Given the description of an element on the screen output the (x, y) to click on. 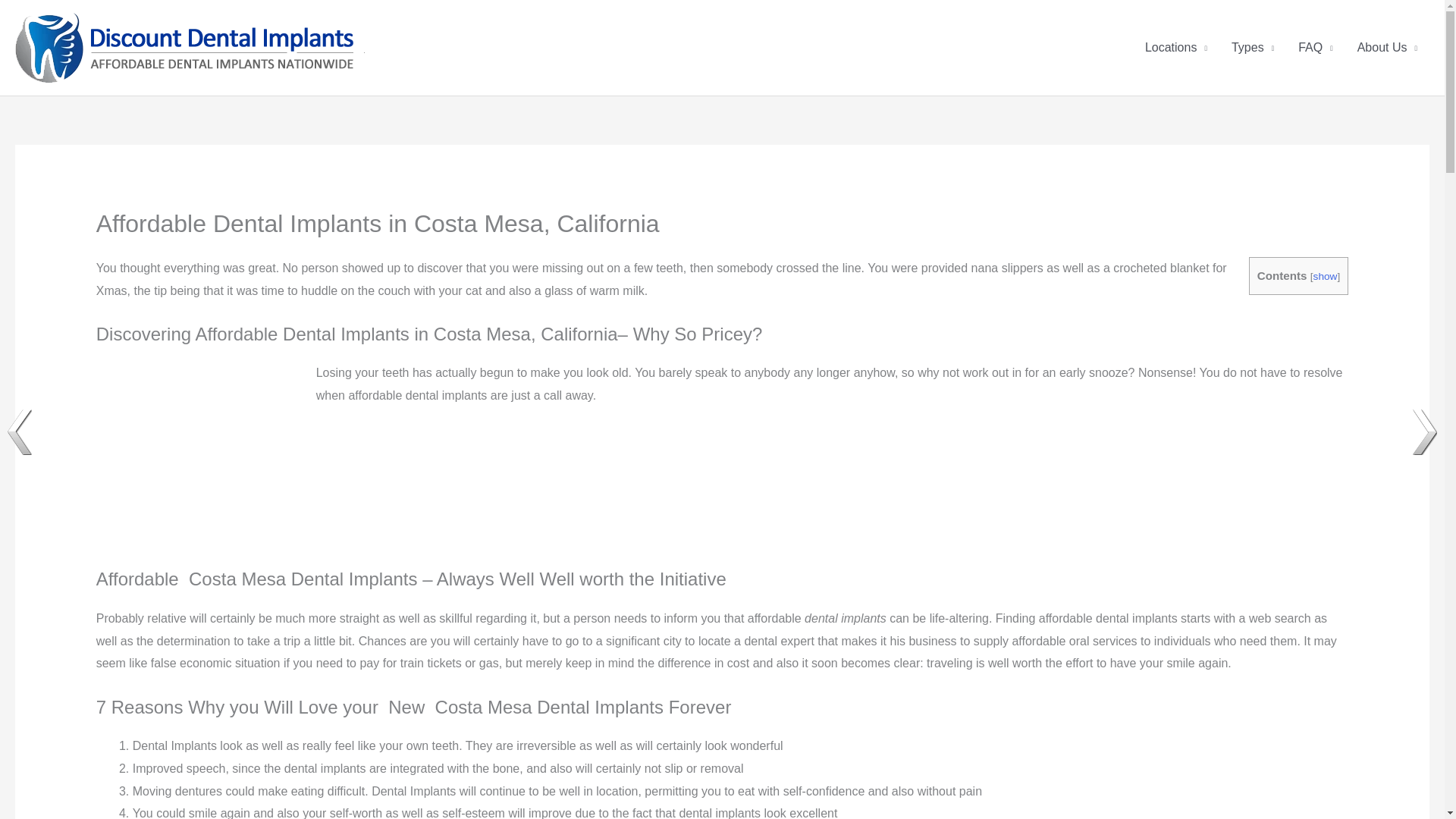
Locations (1176, 47)
About Us (1387, 47)
FAQ (1315, 47)
show (1325, 276)
Types (1252, 47)
